Given the description of an element on the screen output the (x, y) to click on. 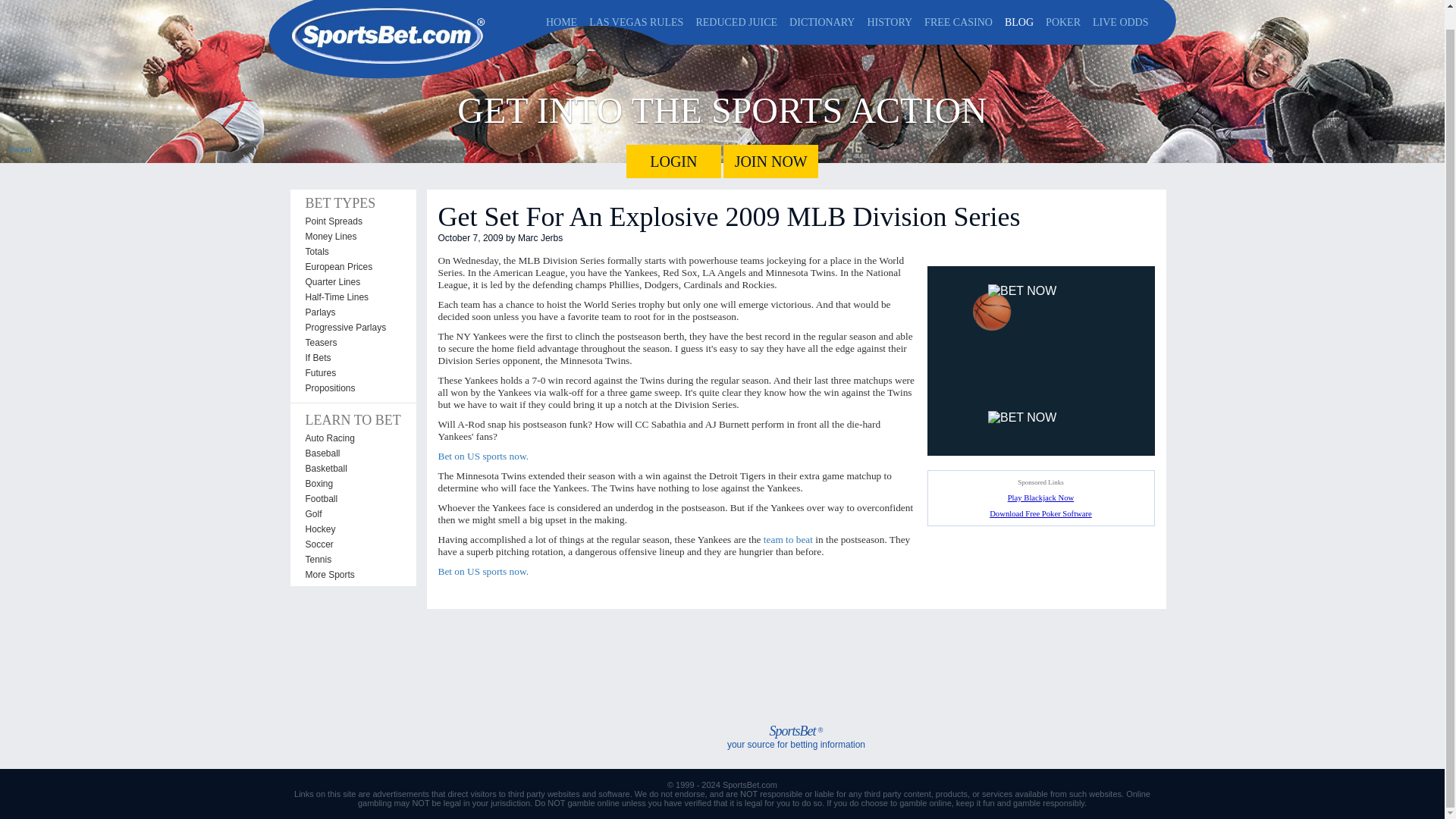
Tweet (19, 148)
team to beat (787, 539)
Basketball (351, 468)
REDUCED JUICE (735, 13)
Football (351, 498)
If Bets (351, 357)
Boxing (351, 483)
Teasers (351, 342)
Soccer (351, 544)
SportsBet.com (386, 22)
Golf (351, 513)
Point Spreads (351, 221)
BLOG (1018, 13)
Auto Racing (351, 437)
Play Blackjack Now (1041, 497)
